Given the description of an element on the screen output the (x, y) to click on. 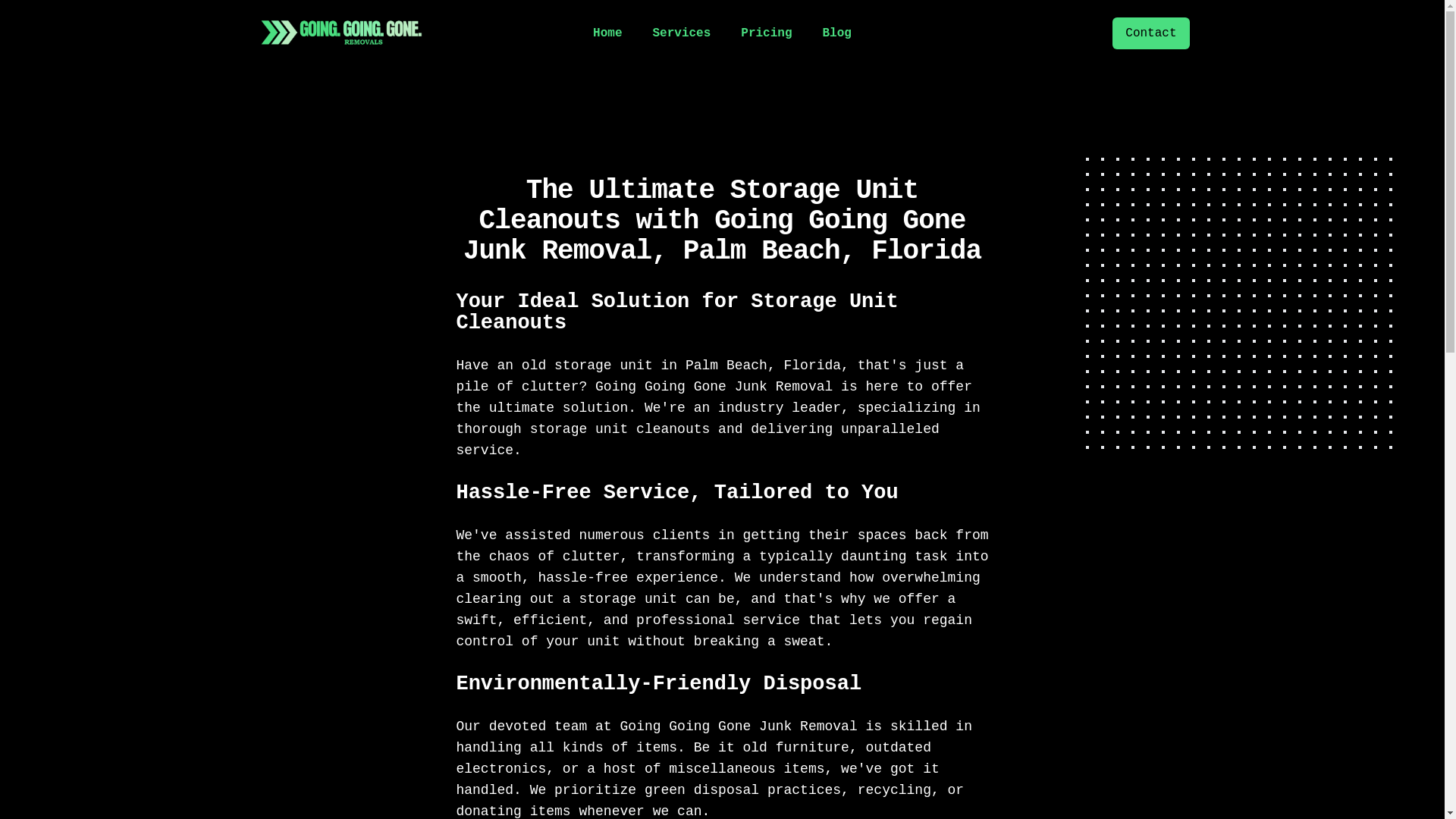
Blog Element type: text (836, 33)
Home Element type: text (607, 33)
Contact Element type: text (1150, 33)
Pricing Element type: text (765, 33)
Services Element type: text (681, 33)
Your Company Element type: text (341, 33)
